Given the description of an element on the screen output the (x, y) to click on. 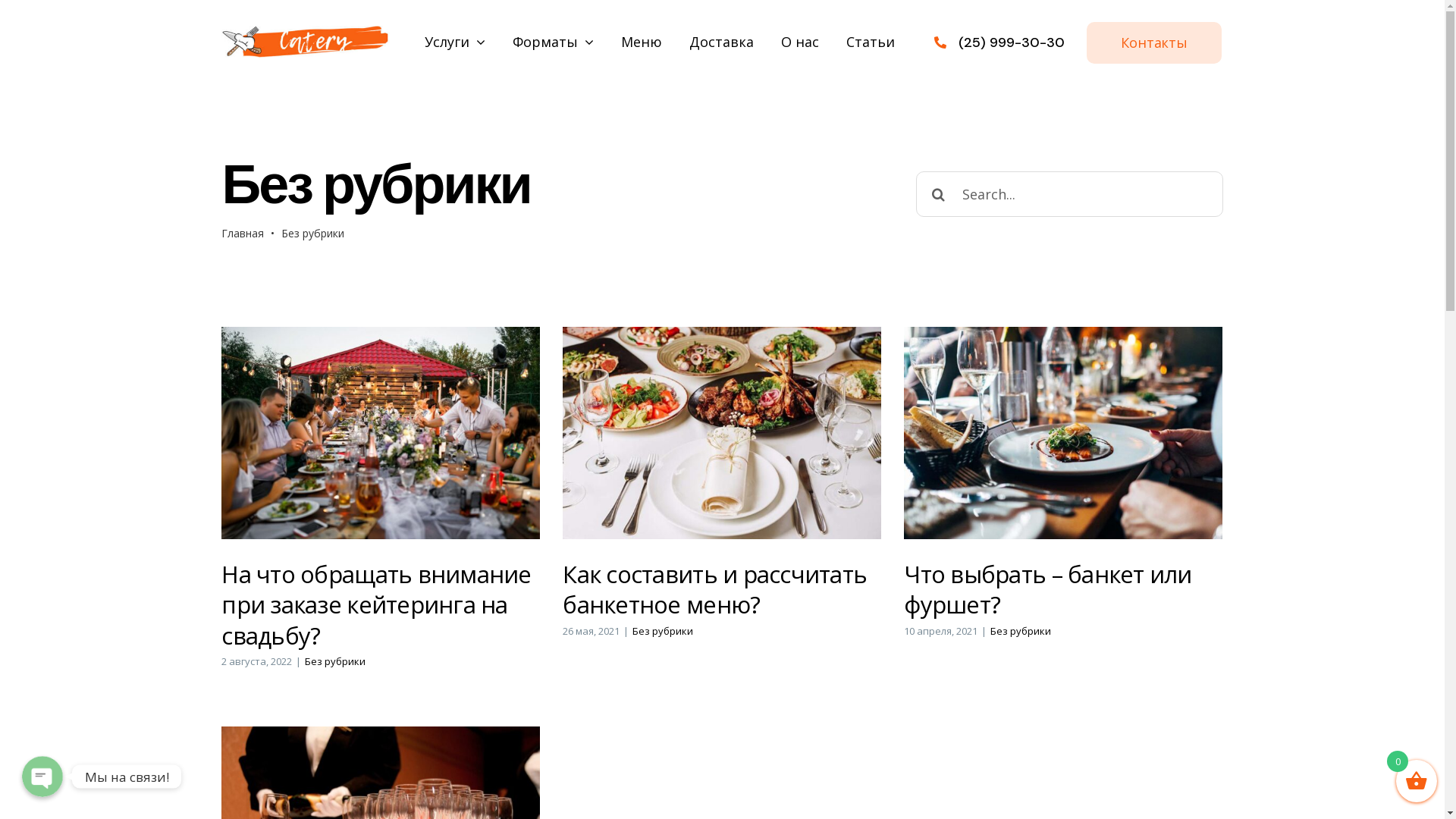
(25) 999-30-30 Element type: text (1011, 42)
